Given the description of an element on the screen output the (x, y) to click on. 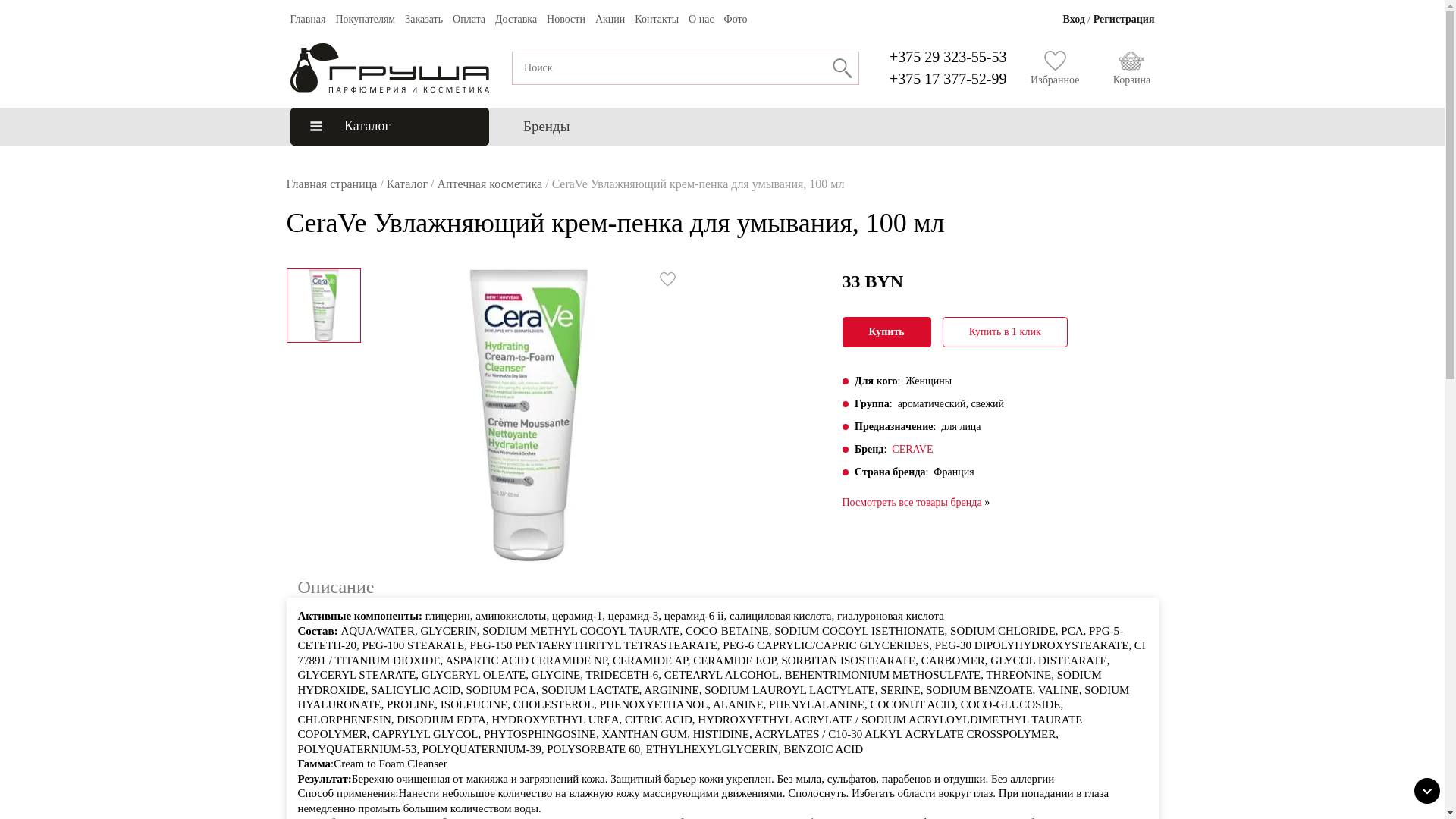
+375 29 323-55-53 Element type: text (948, 56)
CERAVE Element type: text (911, 449)
+375 17 377-52-99 Element type: text (948, 77)
